Given the description of an element on the screen output the (x, y) to click on. 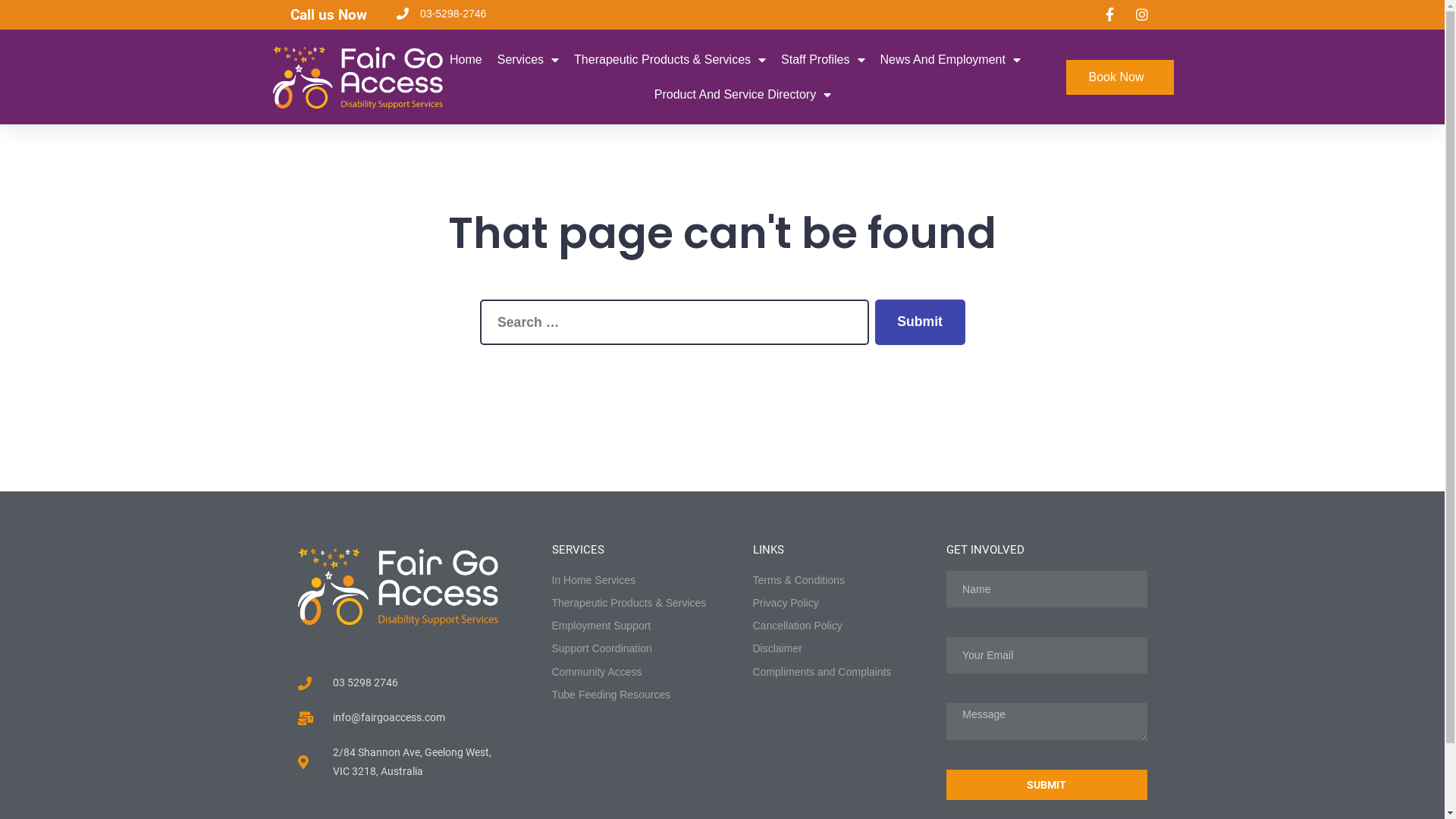
Home Element type: text (465, 59)
Privacy Policy Element type: text (841, 602)
News And Employment Element type: text (949, 59)
03-5298-2746 Element type: text (439, 13)
Compliments and Complaints Element type: text (841, 671)
Cancellation Policy Element type: text (841, 625)
Product And Service Directory Element type: text (742, 94)
Tube Feeding Resources Element type: text (633, 694)
Staff Profiles Element type: text (822, 59)
Services Element type: text (527, 59)
Support Coordination Element type: text (633, 648)
Terms & Conditions Element type: text (841, 580)
Submit Element type: text (920, 322)
SUBMIT Element type: text (1046, 784)
In Home Services Element type: text (633, 580)
Therapeutic Products & Services Element type: text (633, 602)
Community Access Element type: text (633, 671)
Employment Support Element type: text (633, 625)
Therapeutic Products & Services Element type: text (669, 59)
Book Now Element type: text (1120, 76)
